Given the description of an element on the screen output the (x, y) to click on. 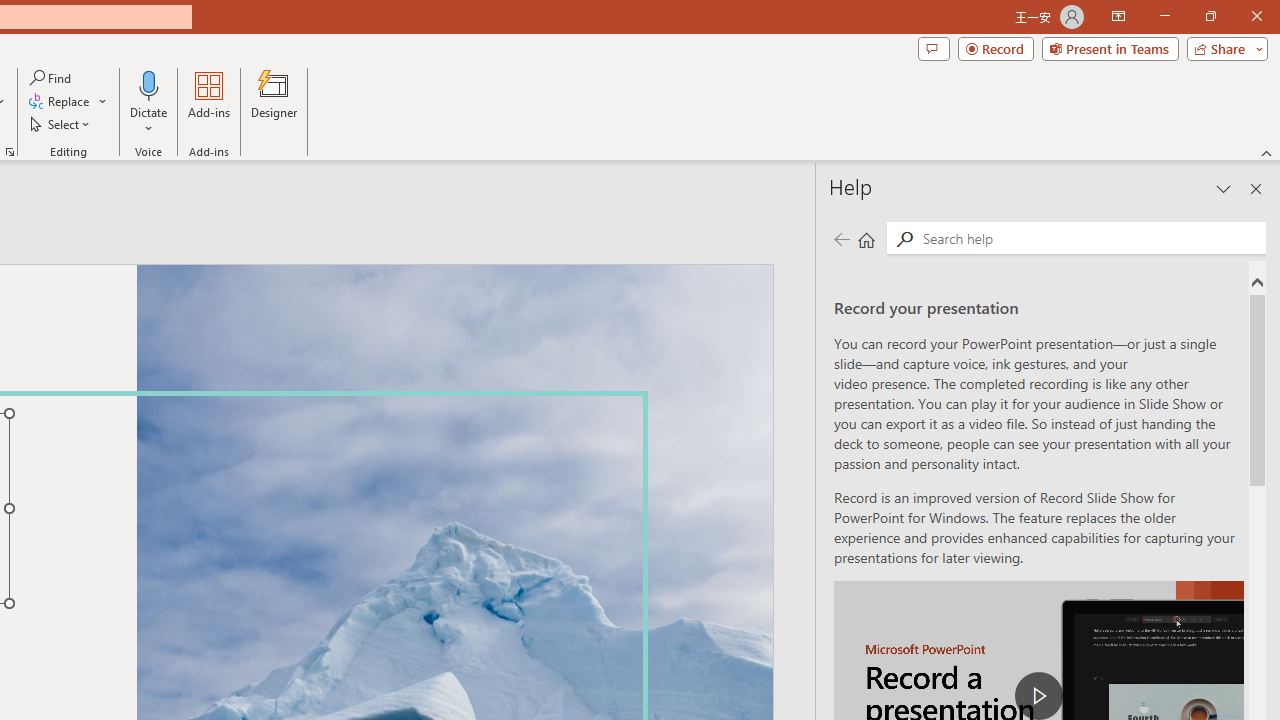
Previous page (841, 238)
play Record a Presentation (1038, 695)
